Given the description of an element on the screen output the (x, y) to click on. 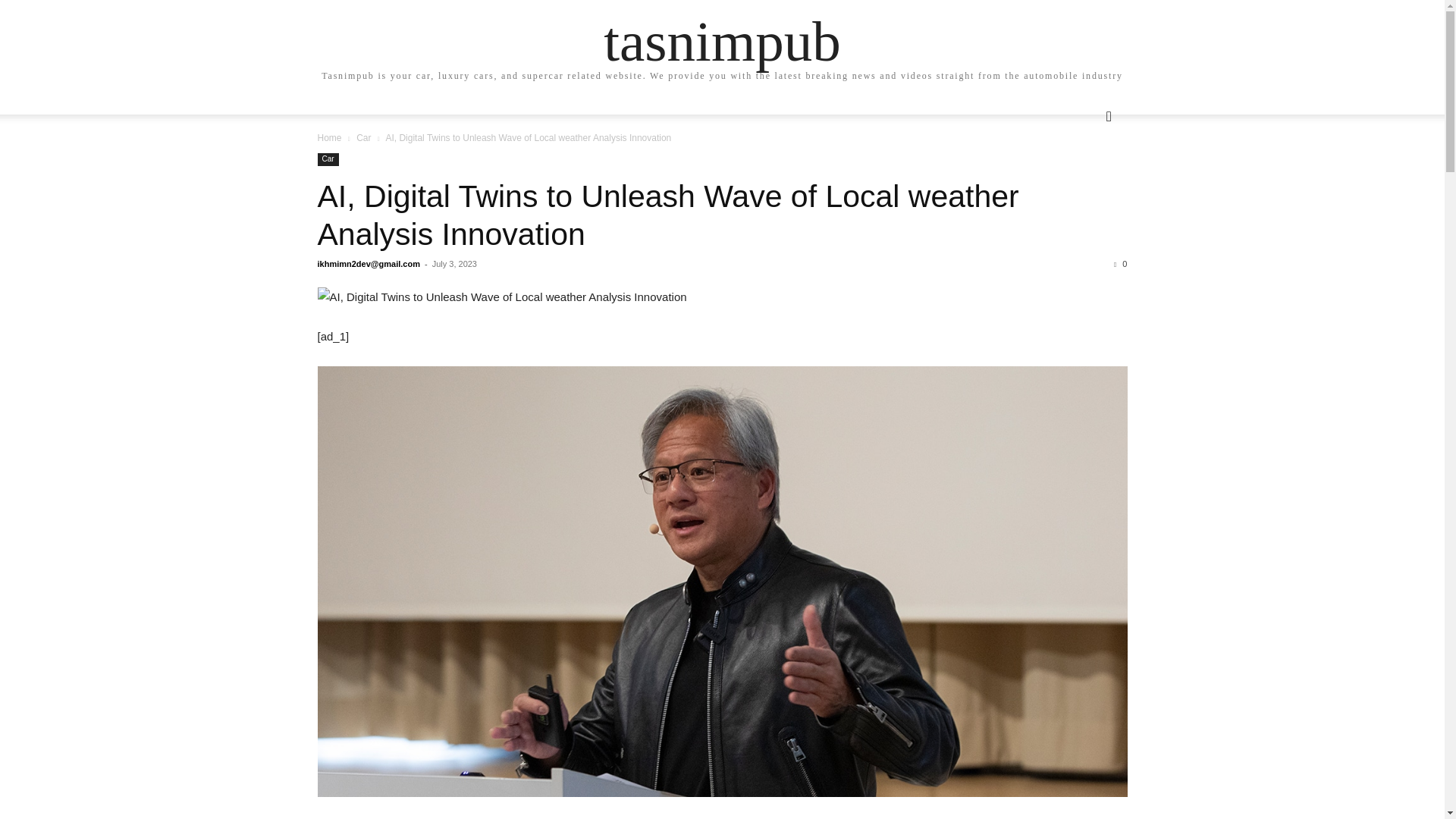
Search (1085, 177)
View all posts in Car (363, 137)
0 (1119, 263)
Home (328, 137)
tasnimpub (722, 41)
Car (363, 137)
Car (327, 159)
